Given the description of an element on the screen output the (x, y) to click on. 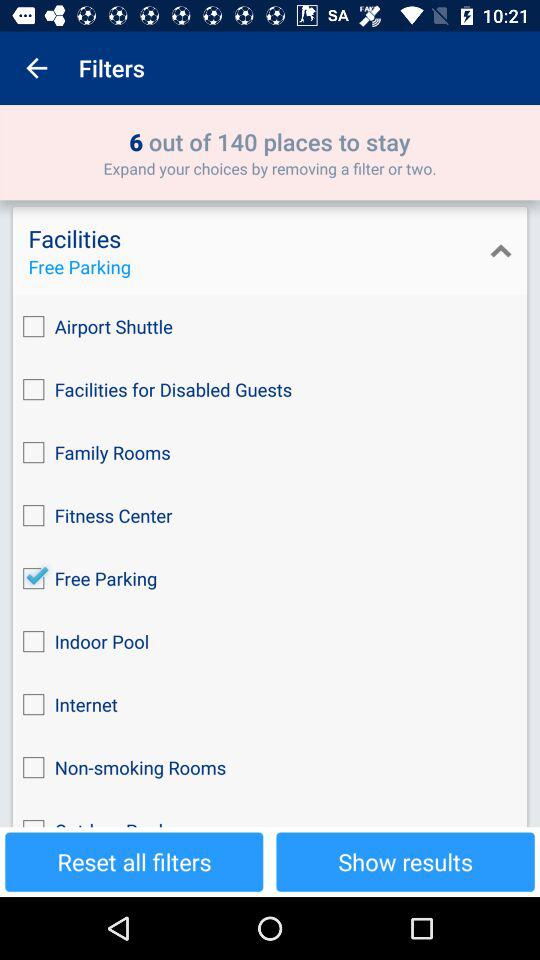
click internet (269, 704)
